Given the description of an element on the screen output the (x, y) to click on. 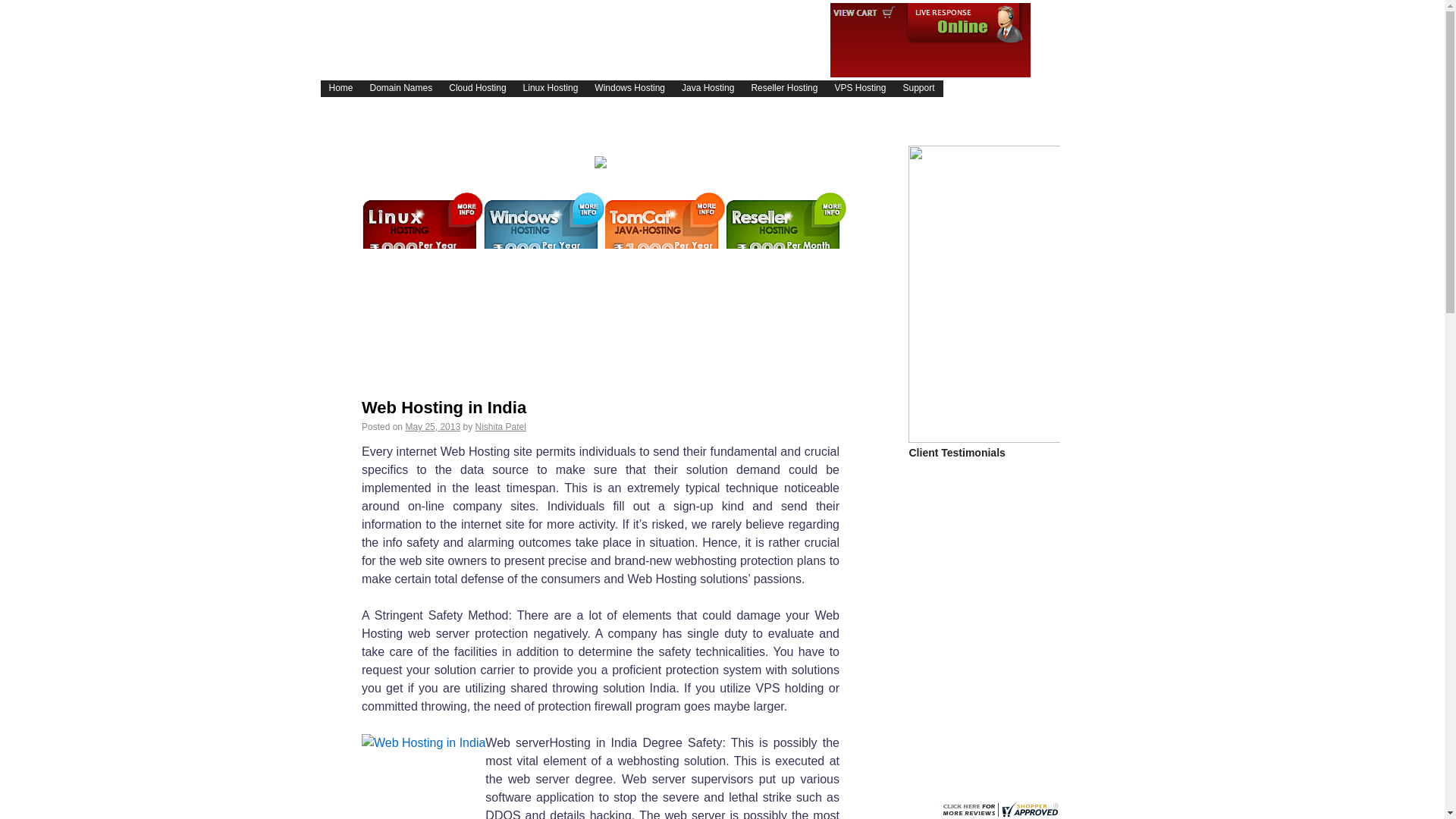
Nishita Patel (499, 426)
Reseller Hosting (783, 88)
Domain Names (401, 88)
View all posts by Nishita Patel (499, 426)
May 25, 2013 (432, 426)
6:45 am (432, 426)
Support (917, 88)
Home (340, 88)
Windows Hosting (629, 88)
Linux Hosting (550, 88)
